Given the description of an element on the screen output the (x, y) to click on. 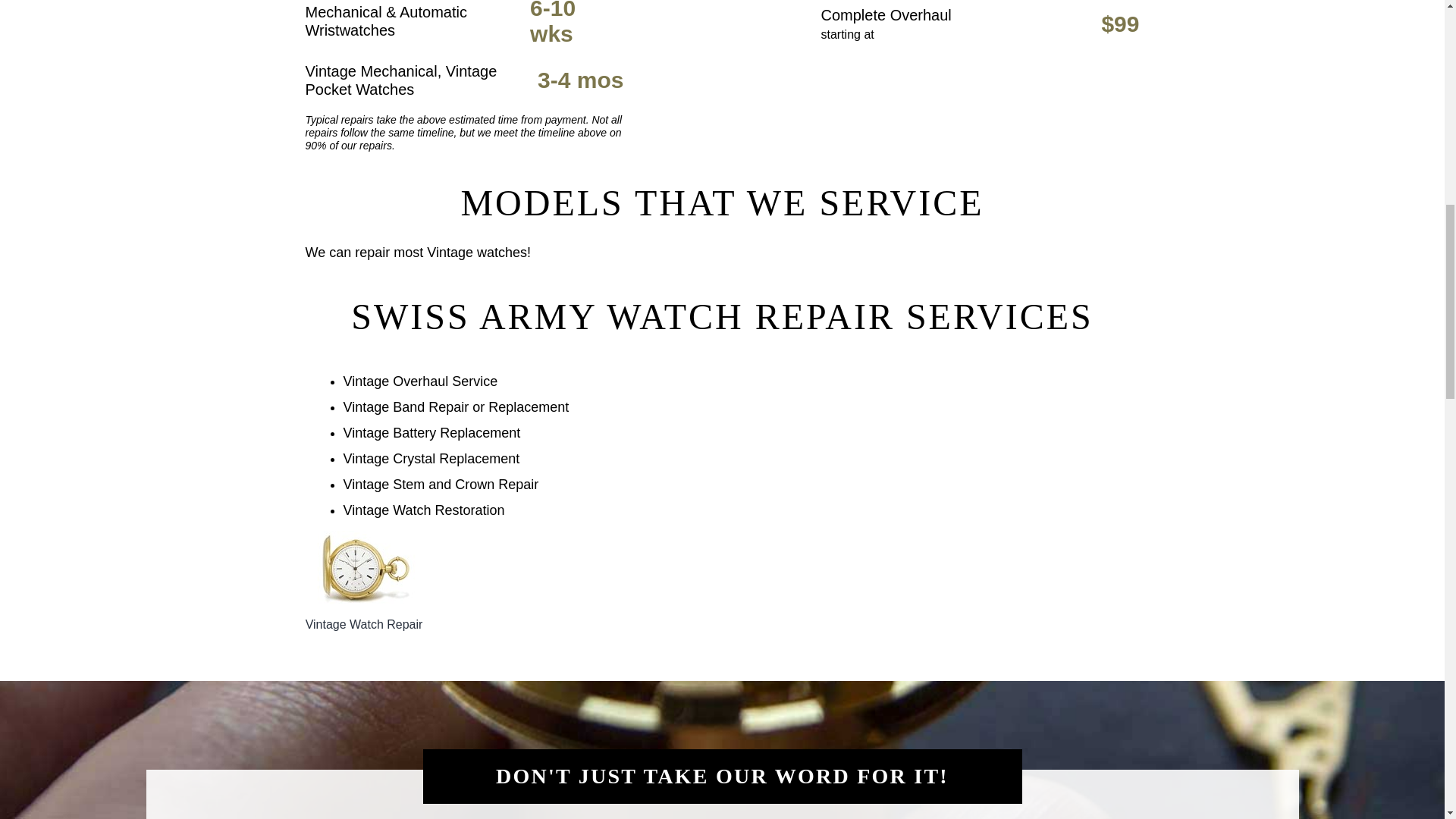
pocketwatch (363, 568)
